Given the description of an element on the screen output the (x, y) to click on. 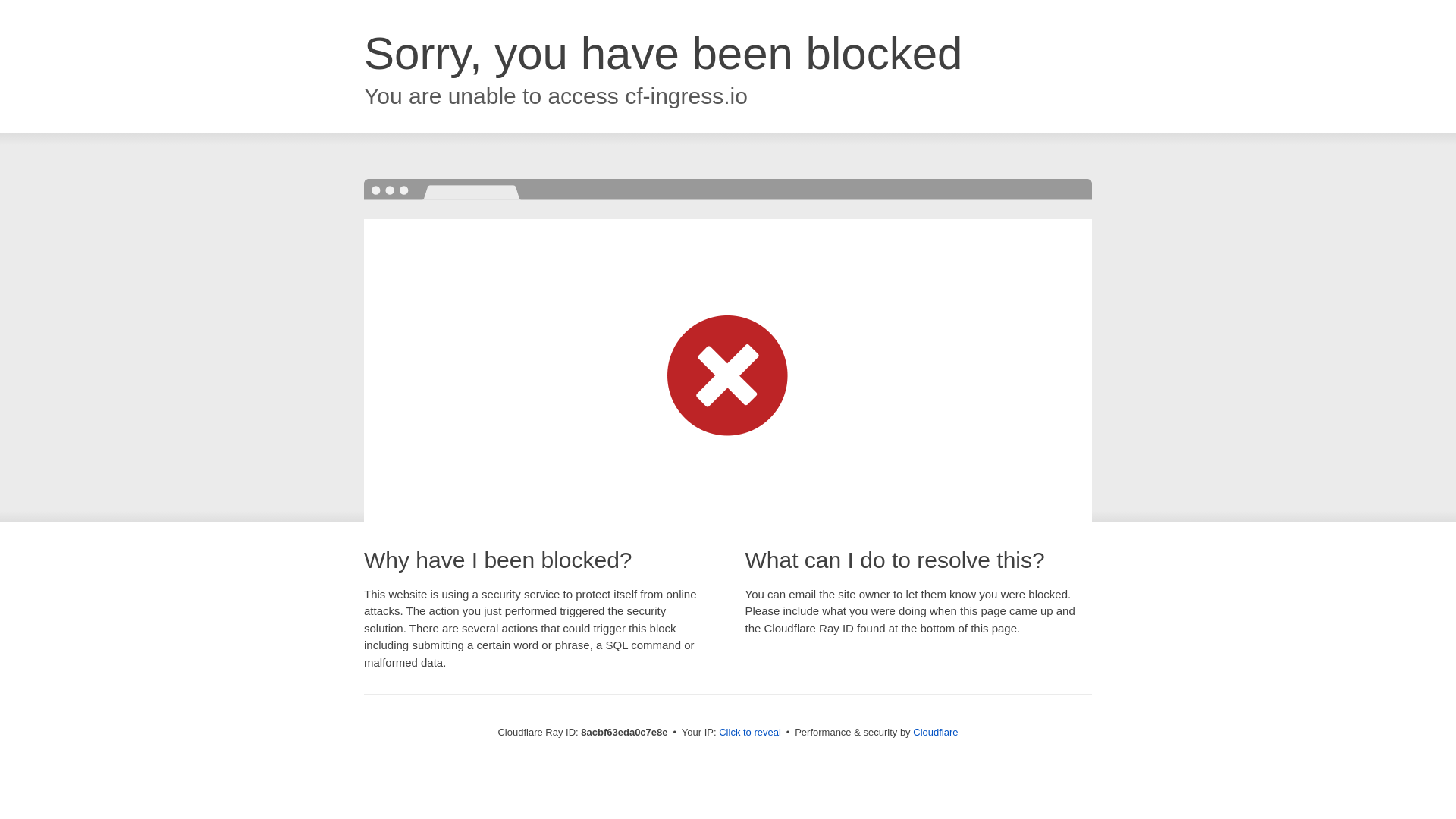
Cloudflare (935, 731)
Click to reveal (749, 732)
